Given the description of an element on the screen output the (x, y) to click on. 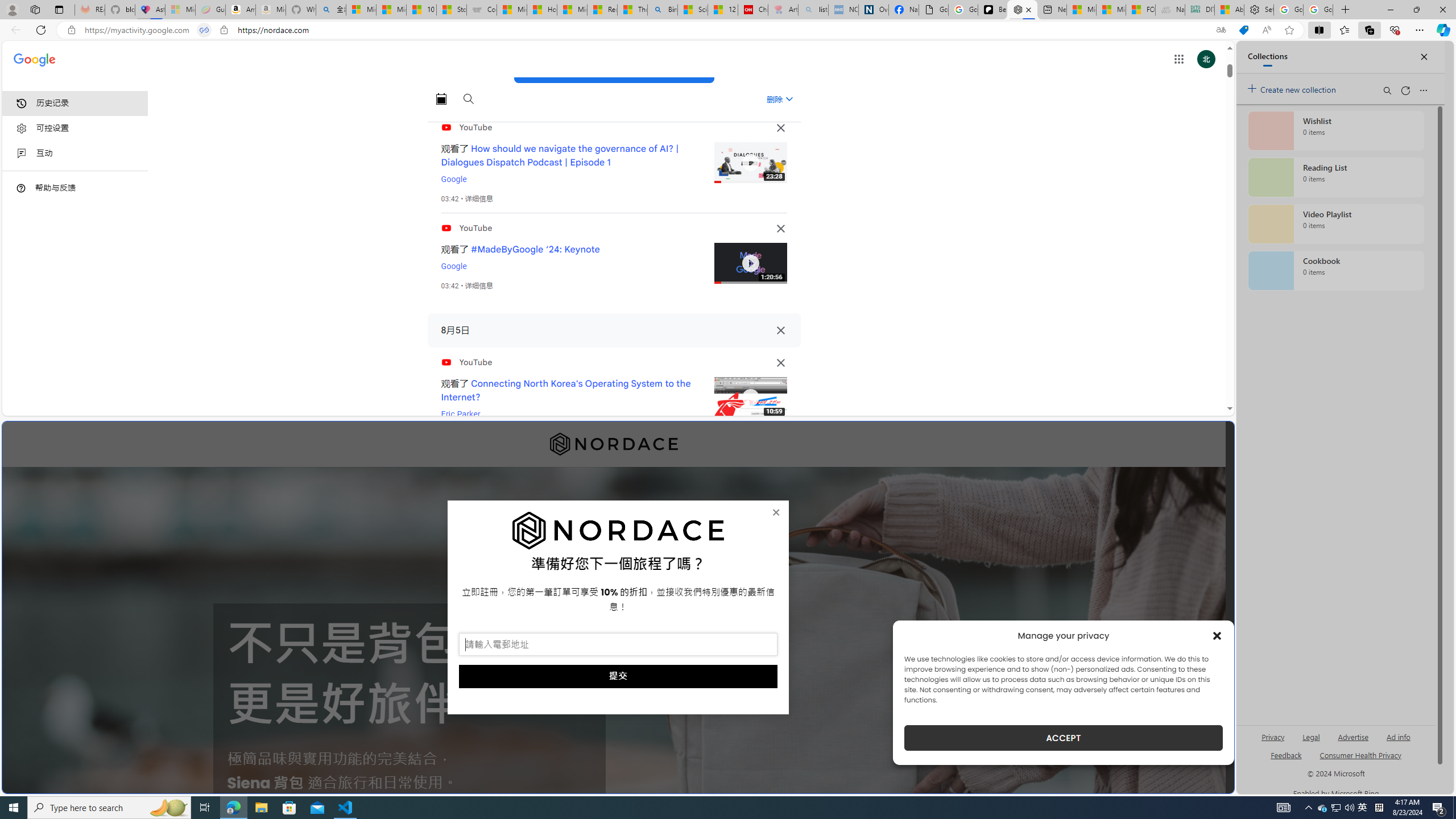
Eric Parker (460, 414)
Class: DTiKkd NMm5M (21, 188)
